Given the description of an element on the screen output the (x, y) to click on. 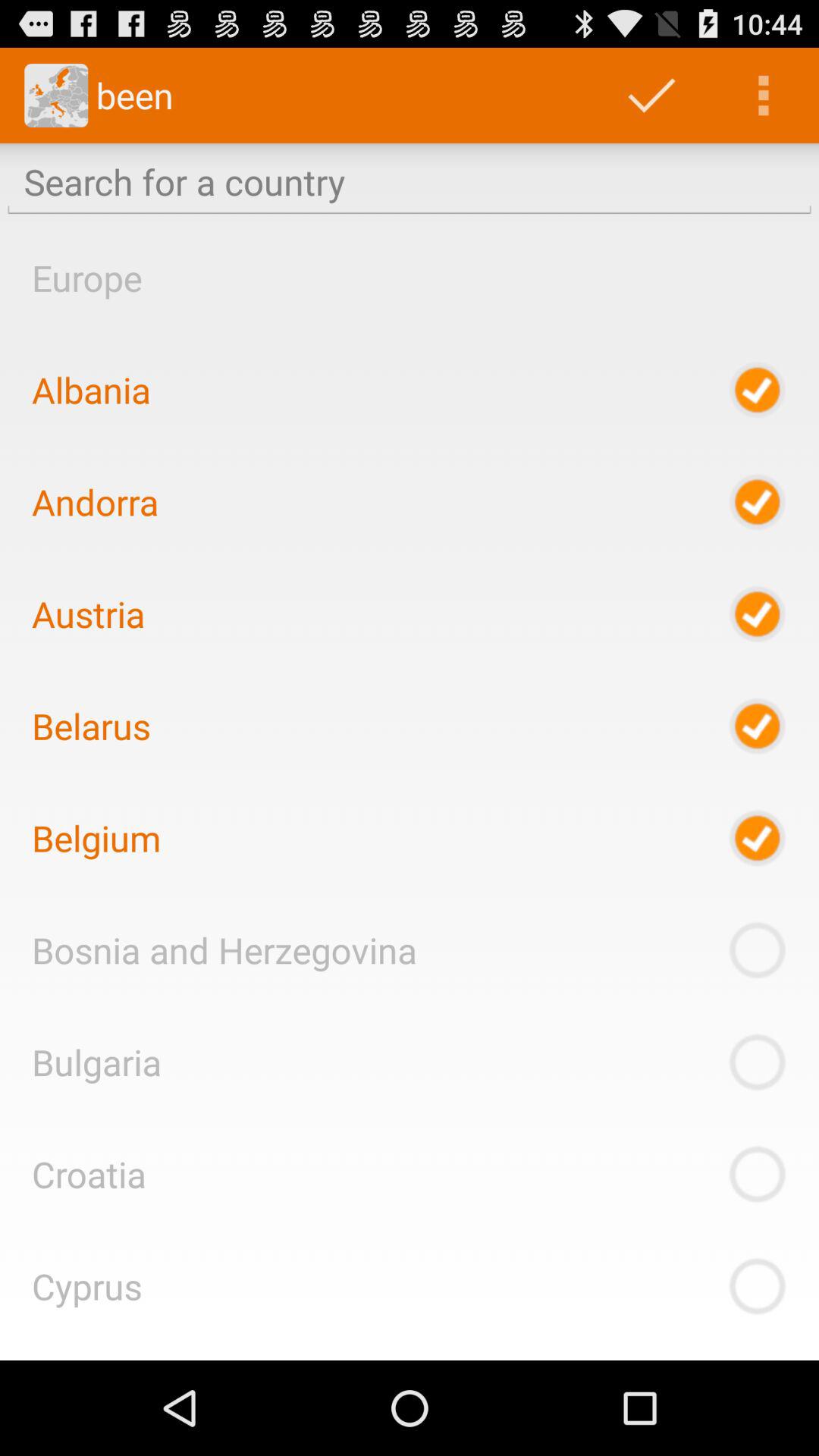
select the icon below belarus icon (95, 837)
